Given the description of an element on the screen output the (x, y) to click on. 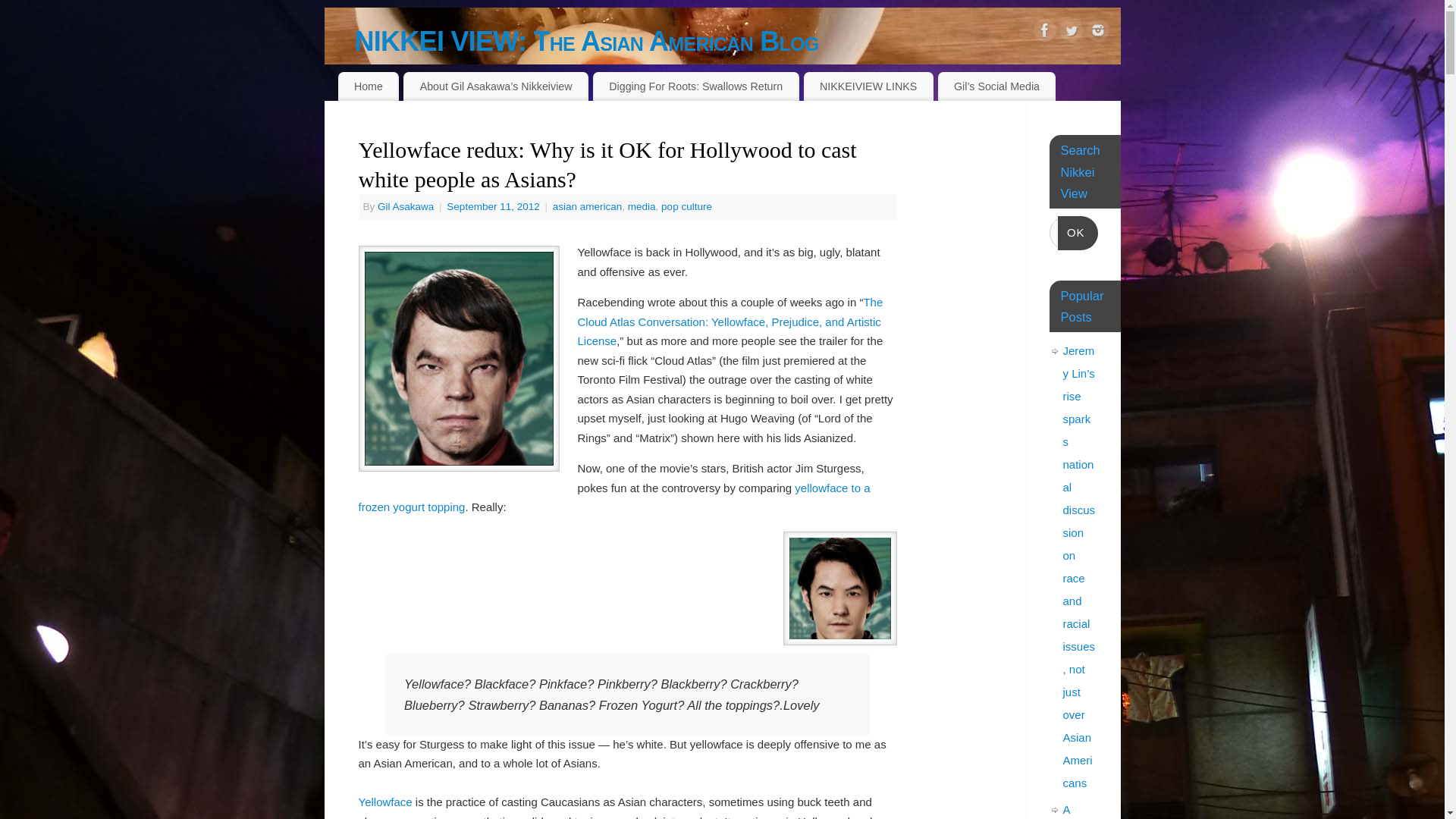
Digging For Roots: Swallows Return (695, 86)
September 11, 2012 (493, 206)
Home (367, 86)
11:37 am (493, 206)
pop culture (686, 206)
NIKKEIVIEW LINKS (868, 86)
View all posts by Gil Asakawa (405, 206)
NIKKEI VIEW: The Asian American Blog (738, 41)
media (641, 206)
asian american (588, 206)
NIKKEI VIEW: The Asian American Blog (738, 41)
cloudatlashugoweaving (458, 358)
Gil Asakawa (405, 206)
yellowface to a frozen yogurt topping (613, 497)
